Given the description of an element on the screen output the (x, y) to click on. 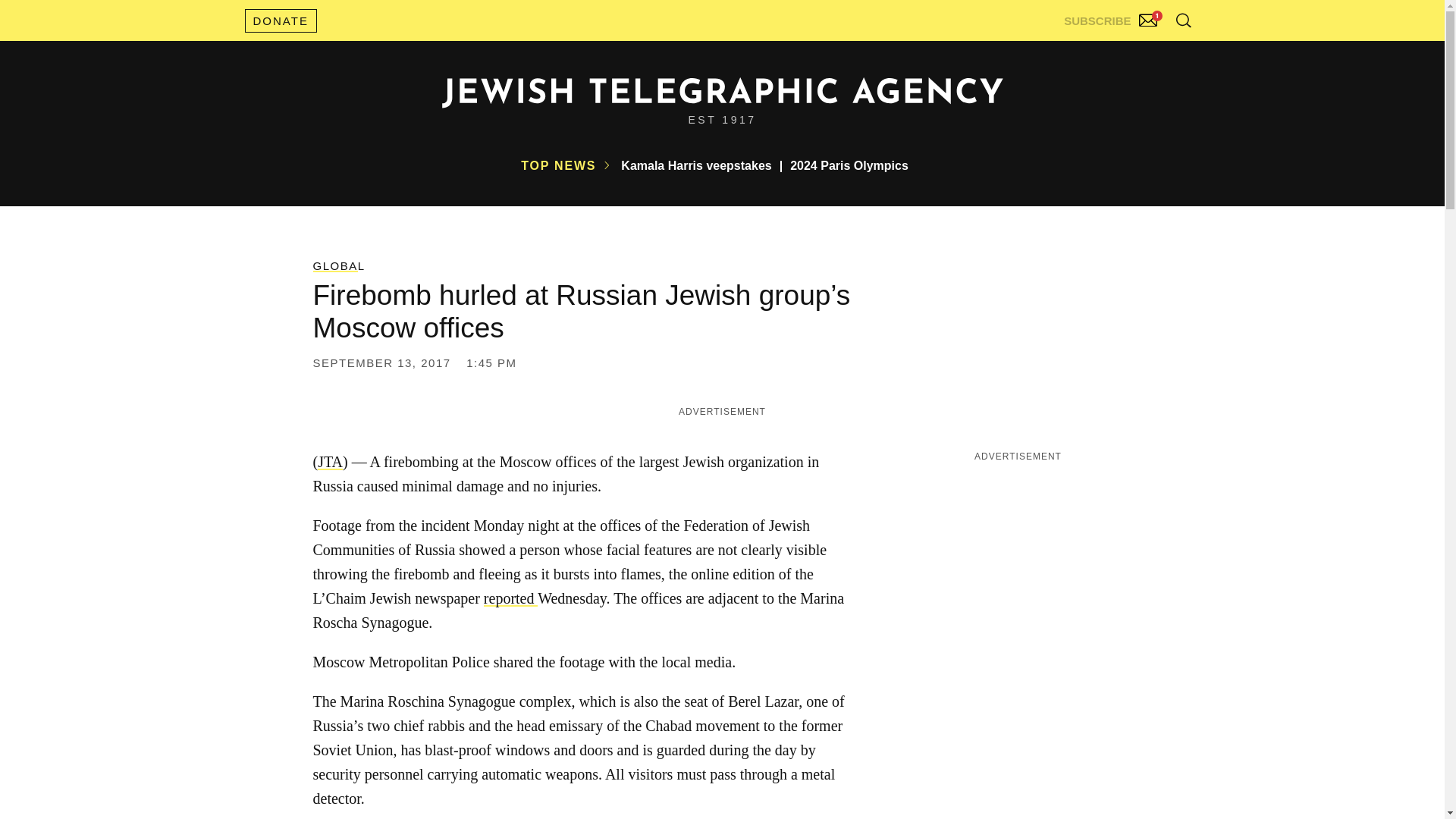
SUBSCRIBE (1112, 17)
Search (1144, 53)
DONATE (279, 20)
SEARCH TOGGLESEARCH TOGGLE (1182, 20)
